Given the description of an element on the screen output the (x, y) to click on. 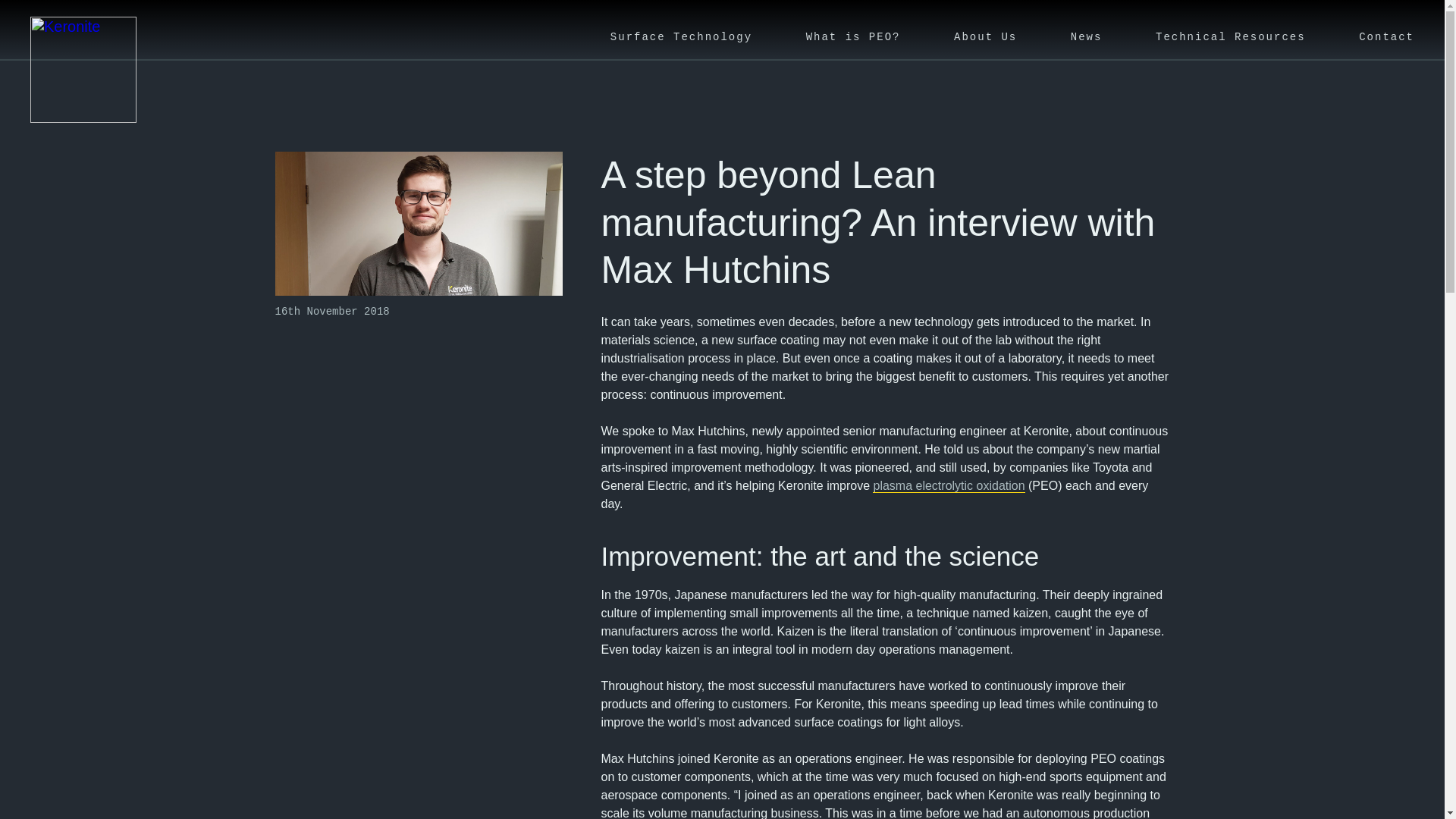
Contact (1385, 30)
logo-light (83, 69)
What is PEO? (853, 30)
Surface Technology (681, 30)
Technical Resources (1231, 30)
max-hutchins - Keronite (418, 223)
About Us (984, 30)
plasma electrolytic oxidation (948, 486)
